Given the description of an element on the screen output the (x, y) to click on. 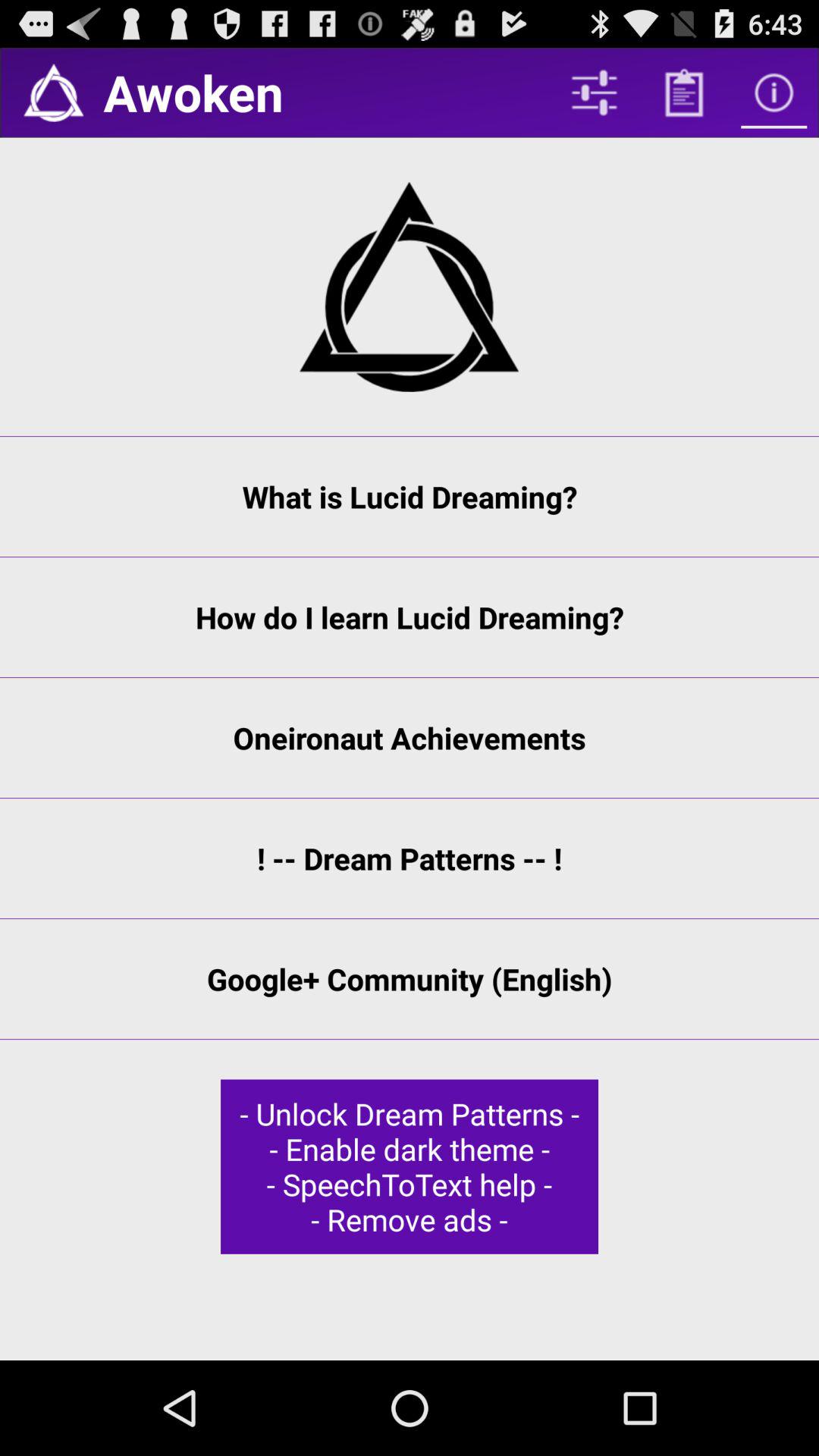
press the item to the right of the awoken icon (594, 92)
